Given the description of an element on the screen output the (x, y) to click on. 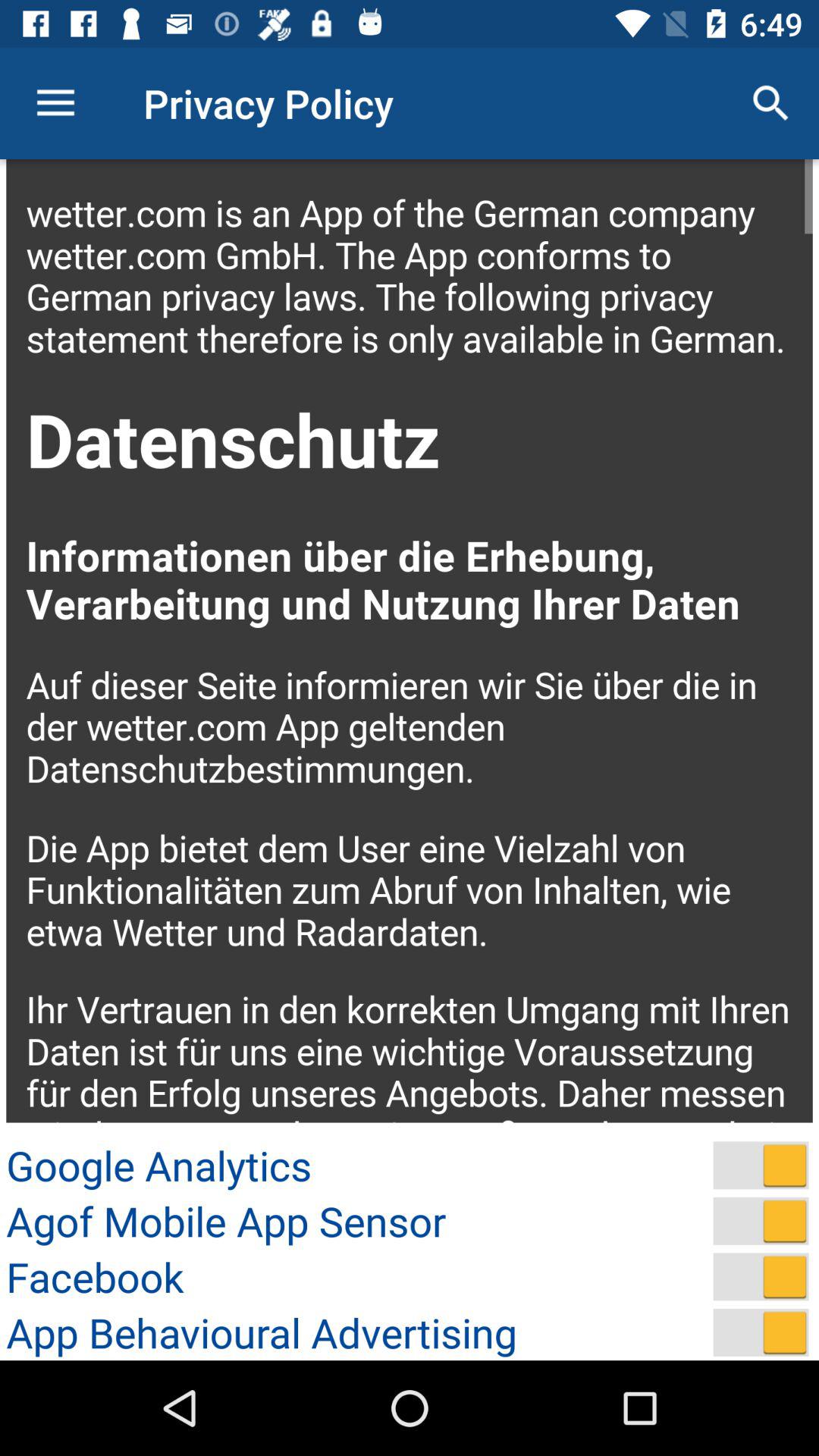
toggle app behavioural advertising (760, 1332)
